Given the description of an element on the screen output the (x, y) to click on. 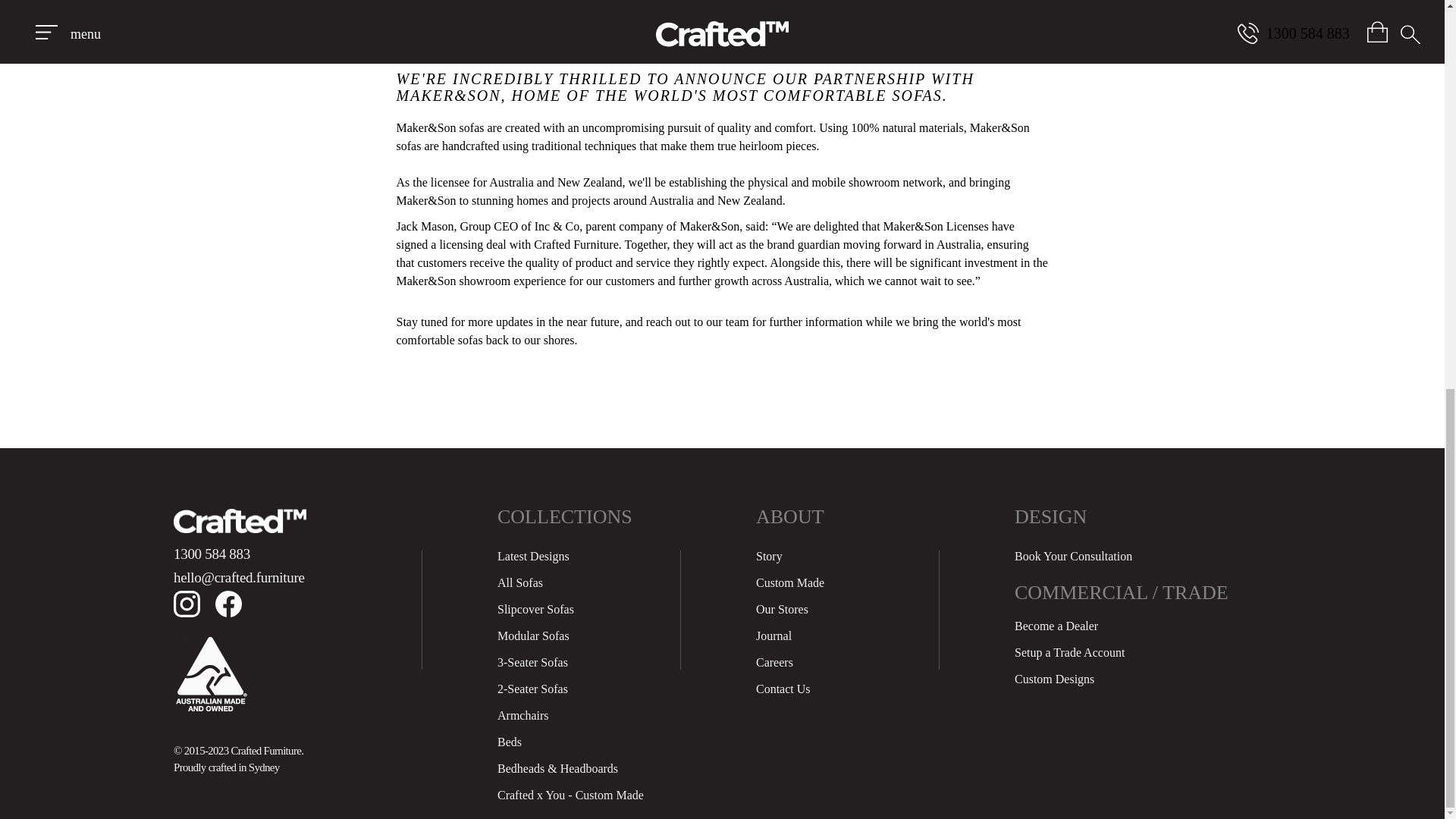
Story (769, 555)
Contact Us (782, 688)
3-Seater Sofas (532, 662)
Armchairs (522, 715)
All Sofas (520, 582)
Beds (509, 741)
Journal (773, 635)
Custom Made (789, 582)
Our Stores (781, 608)
Crafted x You - Custom Made (570, 794)
Careers (774, 662)
Slipcover Sofas (535, 608)
Modular Sofas (533, 635)
Latest Designs (533, 555)
2-Seater Sofas (532, 688)
